Given the description of an element on the screen output the (x, y) to click on. 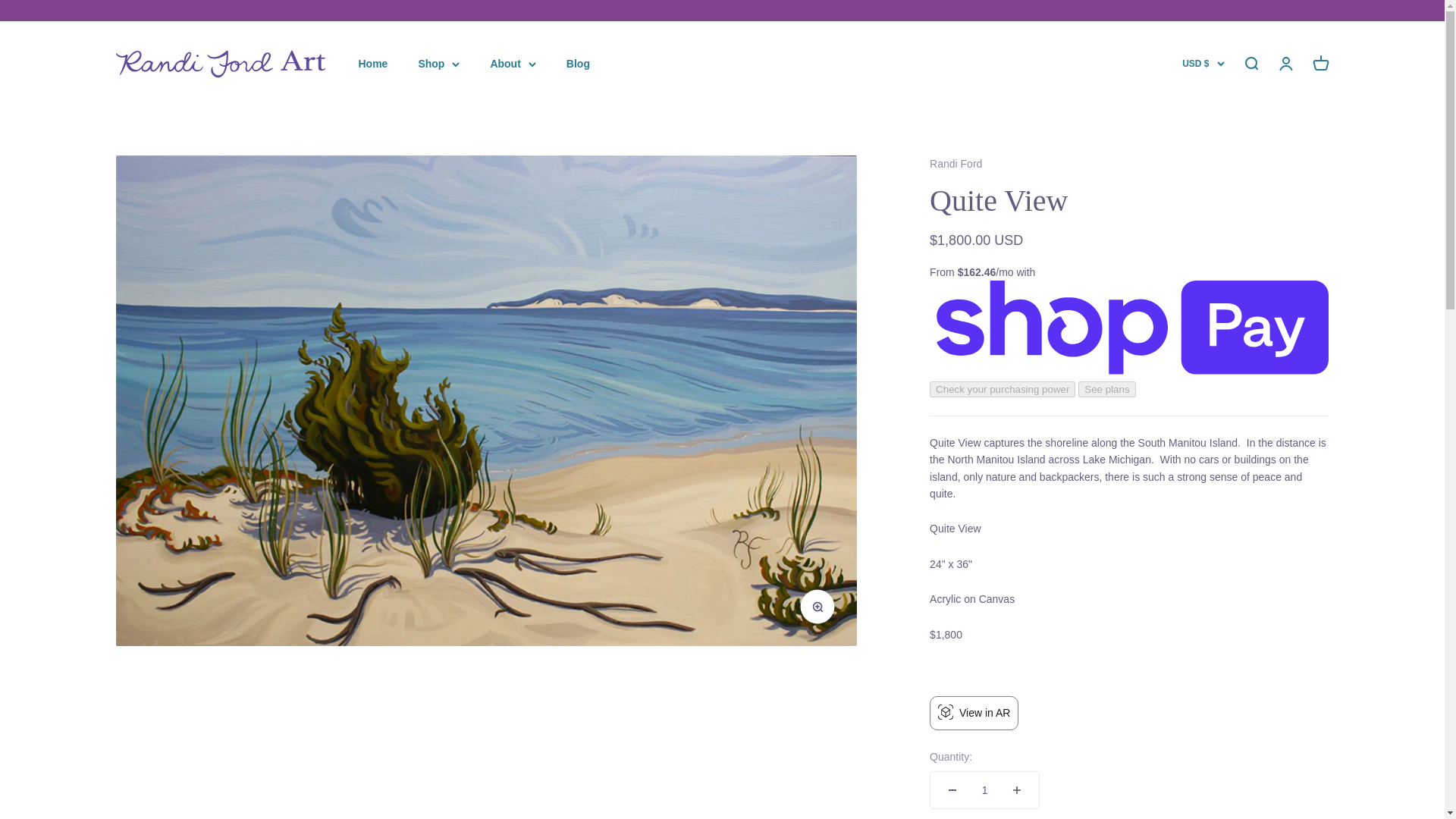
Blog (577, 63)
Randi Ford (221, 63)
Home (372, 63)
